Given the description of an element on the screen output the (x, y) to click on. 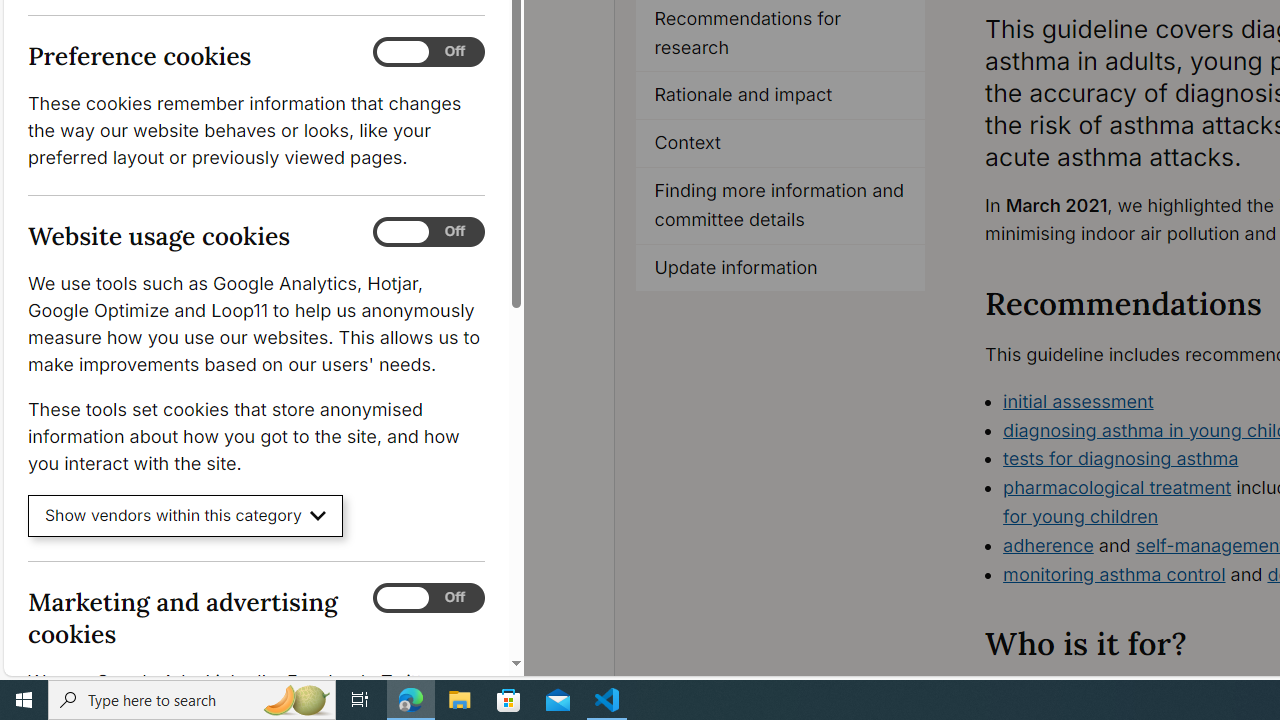
Website usage cookies (429, 232)
initial assessment (1078, 400)
Update information (780, 268)
Rationale and impact (781, 96)
Preference cookies (429, 52)
for young children (1080, 515)
Rationale and impact (780, 96)
Show vendors within this category (185, 516)
Update information (781, 268)
monitoring asthma control (1114, 573)
pharmacological treatment (1117, 487)
Finding more information and committee details (781, 205)
adherence (1048, 544)
tests for diagnosing asthma (1121, 458)
Context (781, 143)
